Given the description of an element on the screen output the (x, y) to click on. 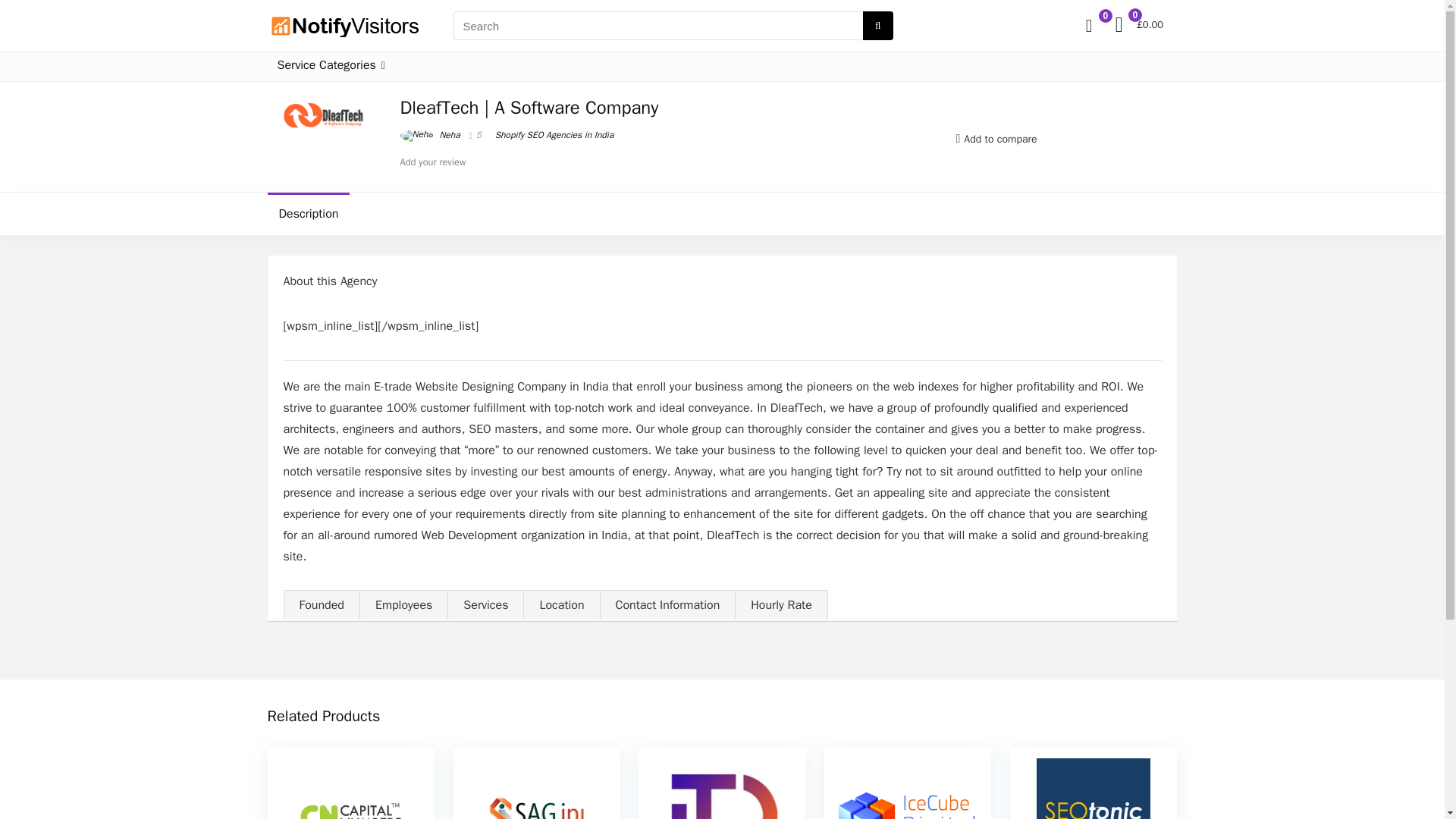
Description (721, 213)
Service Categories (330, 66)
Add your review (432, 162)
Neha (430, 134)
Shopify SEO Agencies in India (554, 134)
Description (307, 213)
